Given the description of an element on the screen output the (x, y) to click on. 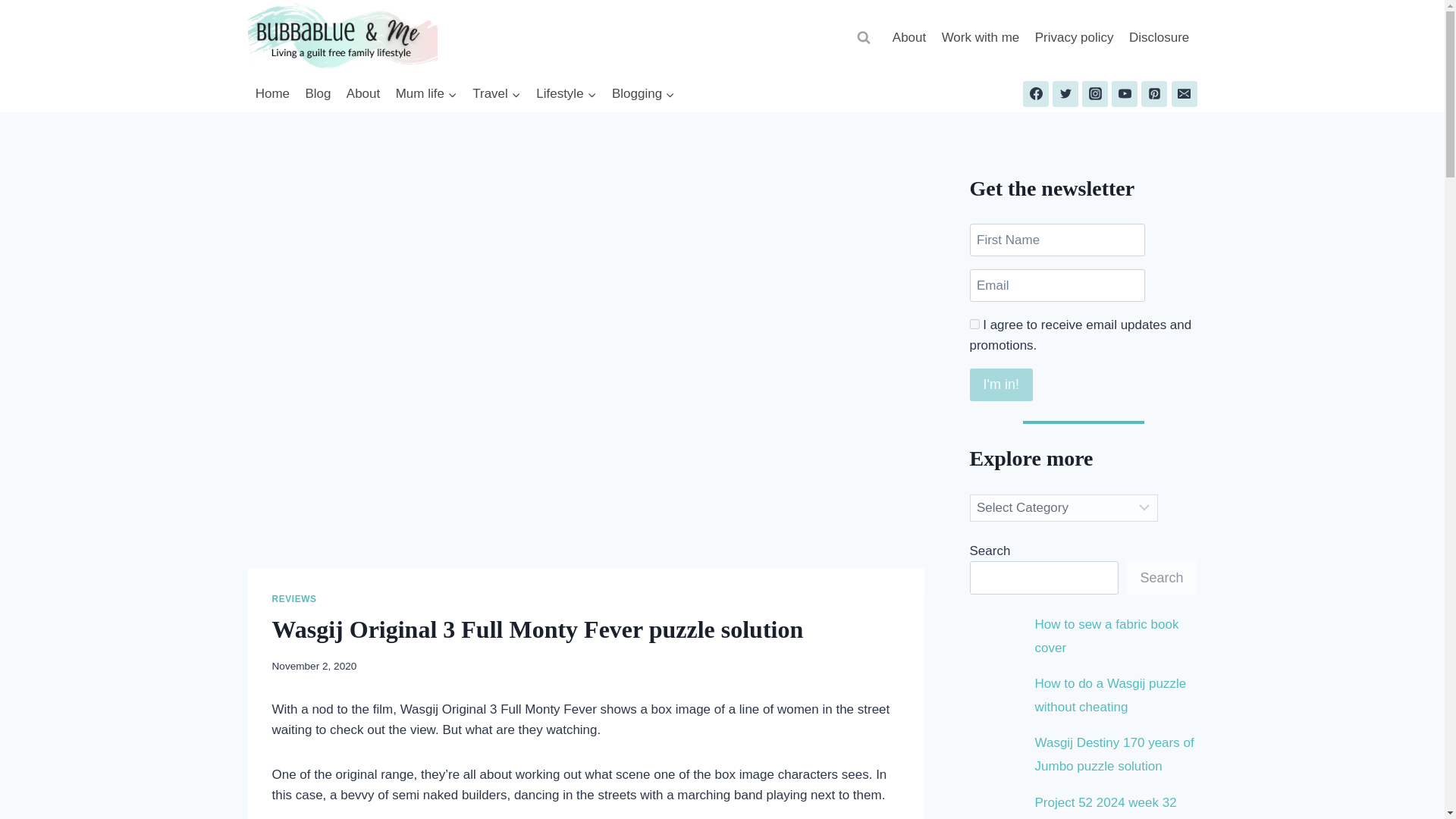
About (363, 94)
Privacy policy (1073, 37)
How to sew a fabric book cover (1107, 636)
Mum life (425, 94)
REVIEWS (292, 598)
Work with me (979, 37)
Blog (317, 94)
Home (272, 94)
Travel (496, 94)
1 (973, 324)
